Given the description of an element on the screen output the (x, y) to click on. 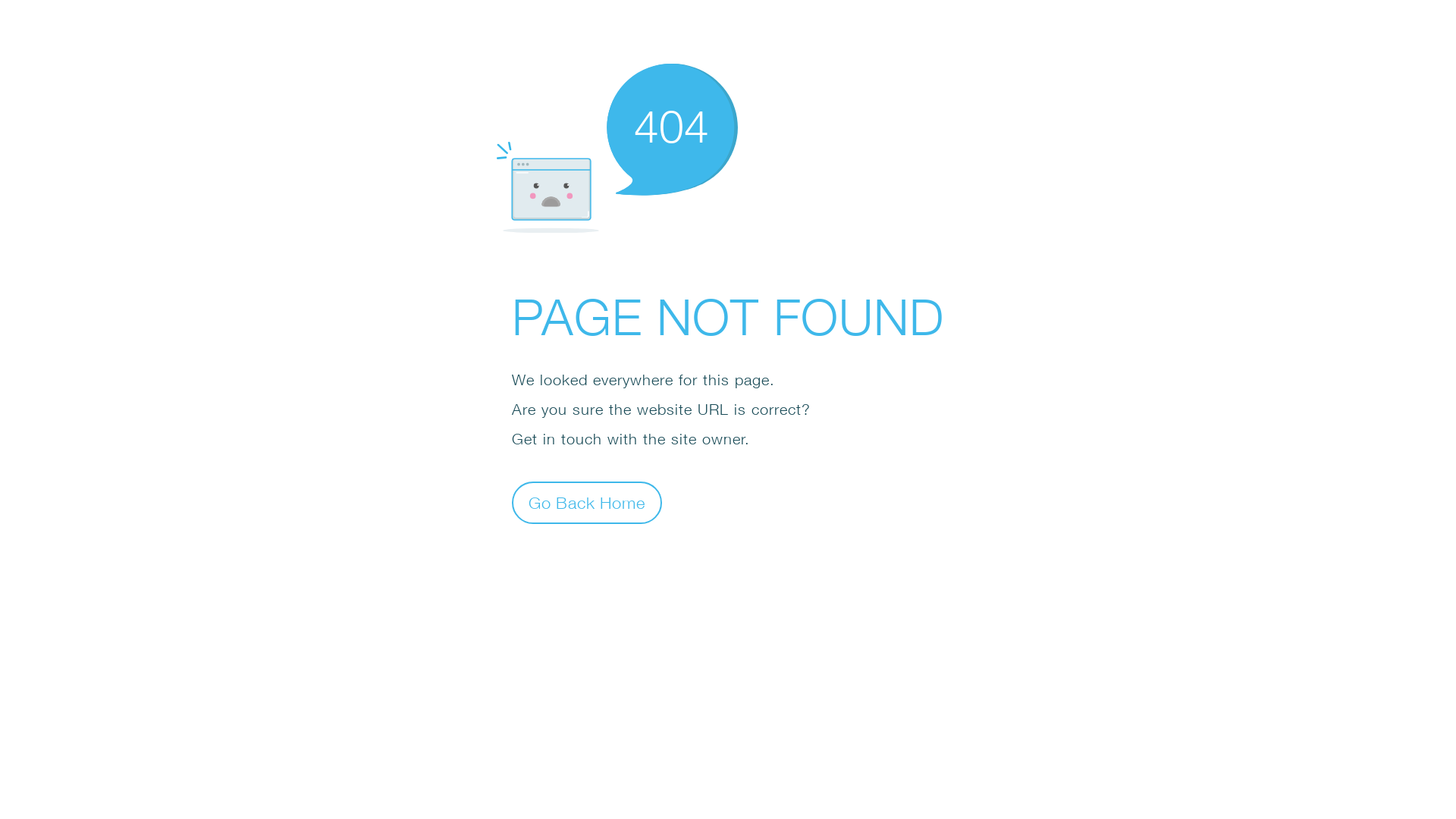
Go Back Home Element type: text (586, 502)
